Given the description of an element on the screen output the (x, y) to click on. 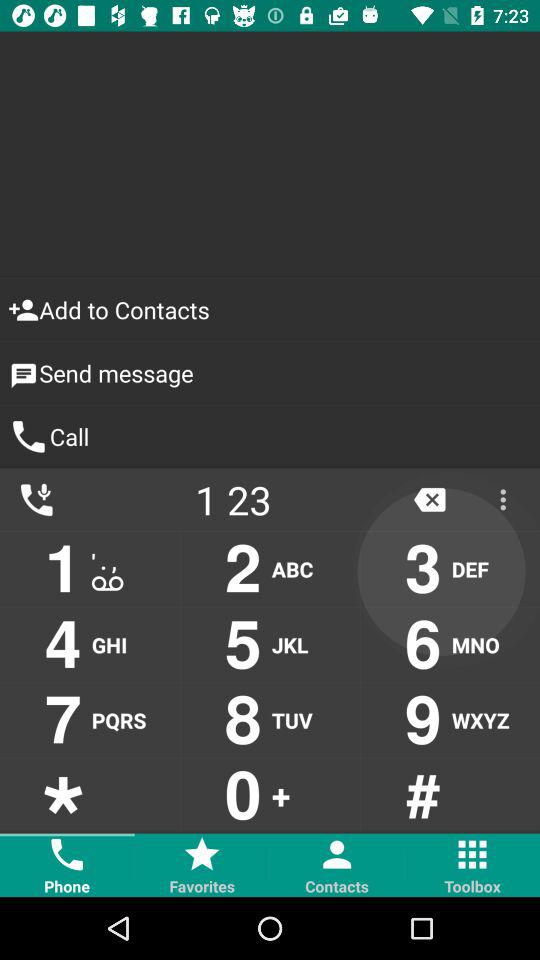
open item below call icon (233, 499)
